Given the description of an element on the screen output the (x, y) to click on. 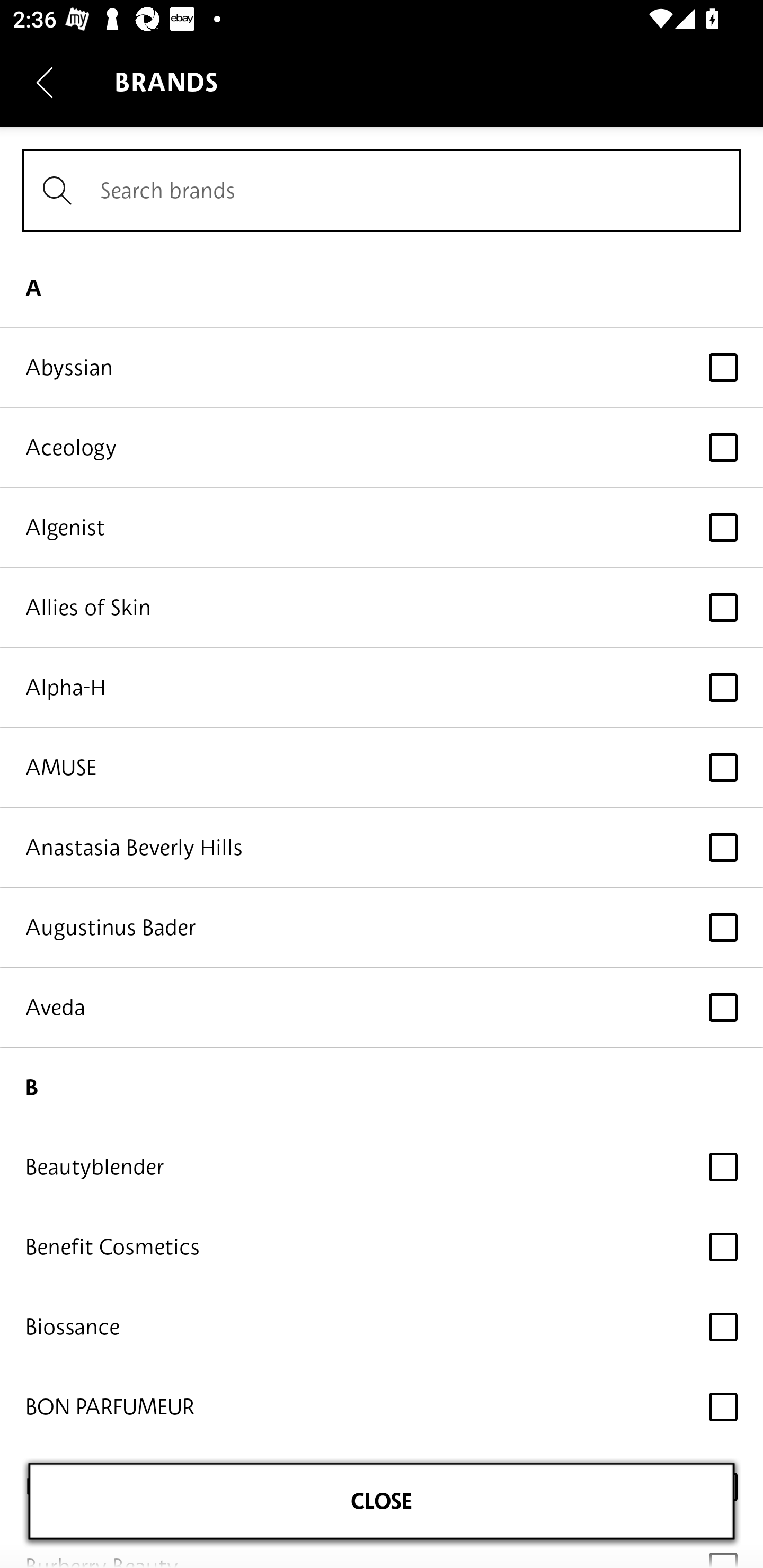
Navigate up (44, 82)
Search brands (381, 190)
A (381, 287)
Abyssian (381, 367)
Aceology (381, 447)
Algenist (381, 527)
Allies of Skin (381, 607)
Alpha-H (381, 687)
AMUSE (381, 767)
Anastasia Beverly Hills (381, 847)
Augustinus Bader (381, 927)
Aveda (381, 1007)
B (381, 1087)
Beautyblender (381, 1167)
Benefit Cosmetics (381, 1247)
Biossance (381, 1327)
BON PARFUMEUR (381, 1407)
CLOSE (381, 1501)
